Given the description of an element on the screen output the (x, y) to click on. 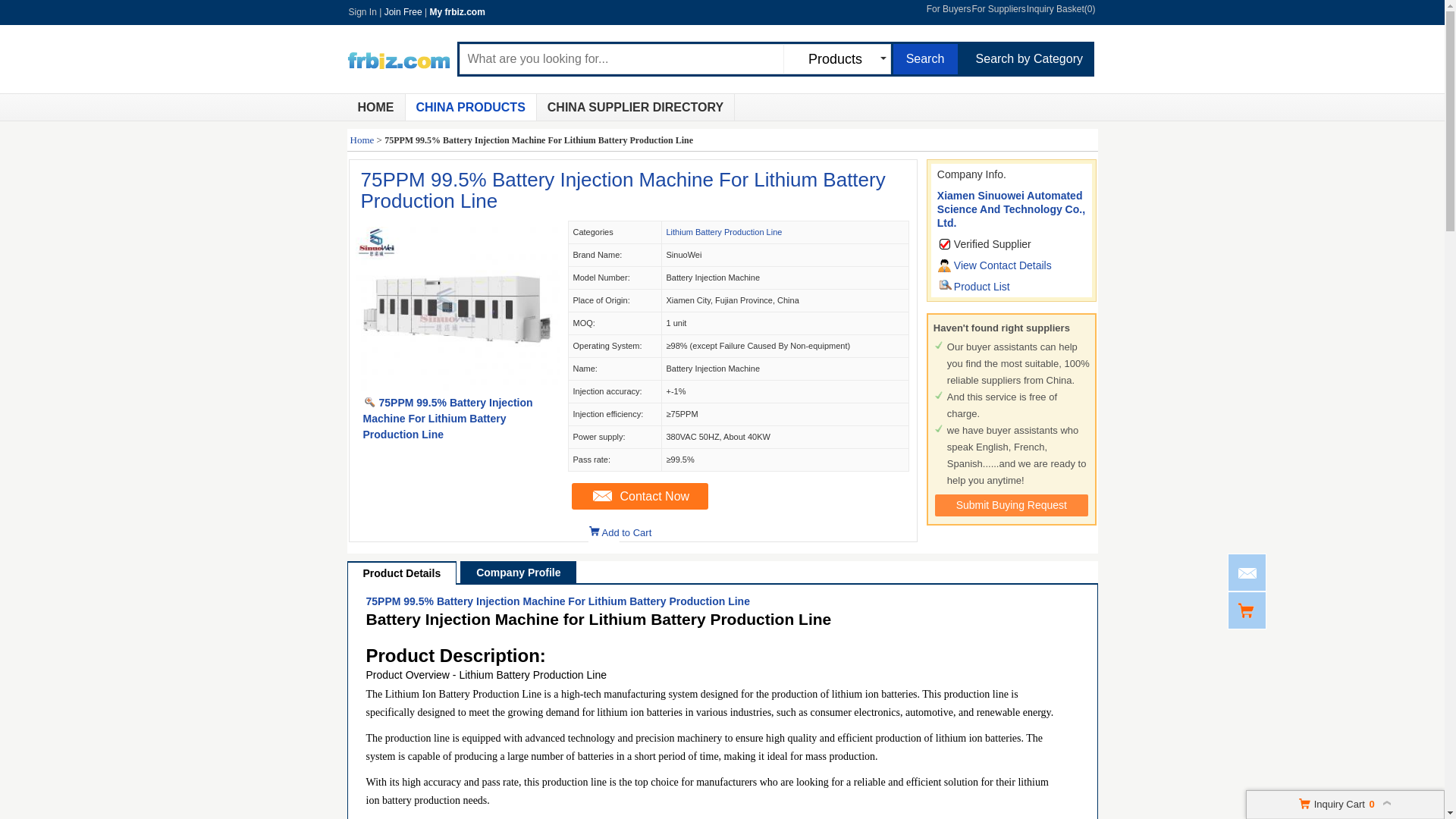
Xiamen Sinuowei Automated Science And Technology Co., Ltd. (1010, 209)
Lithium Battery Production Line (723, 231)
Product List (981, 286)
CHINA SUPPLIER DIRECTORY (635, 107)
Home (362, 139)
Contact Now (639, 496)
Search (925, 59)
Suppliers (635, 107)
Xiamen Sinuowei Automated Science And Technology Co., Ltd. (1010, 209)
Search by Category (1028, 58)
